Given the description of an element on the screen output the (x, y) to click on. 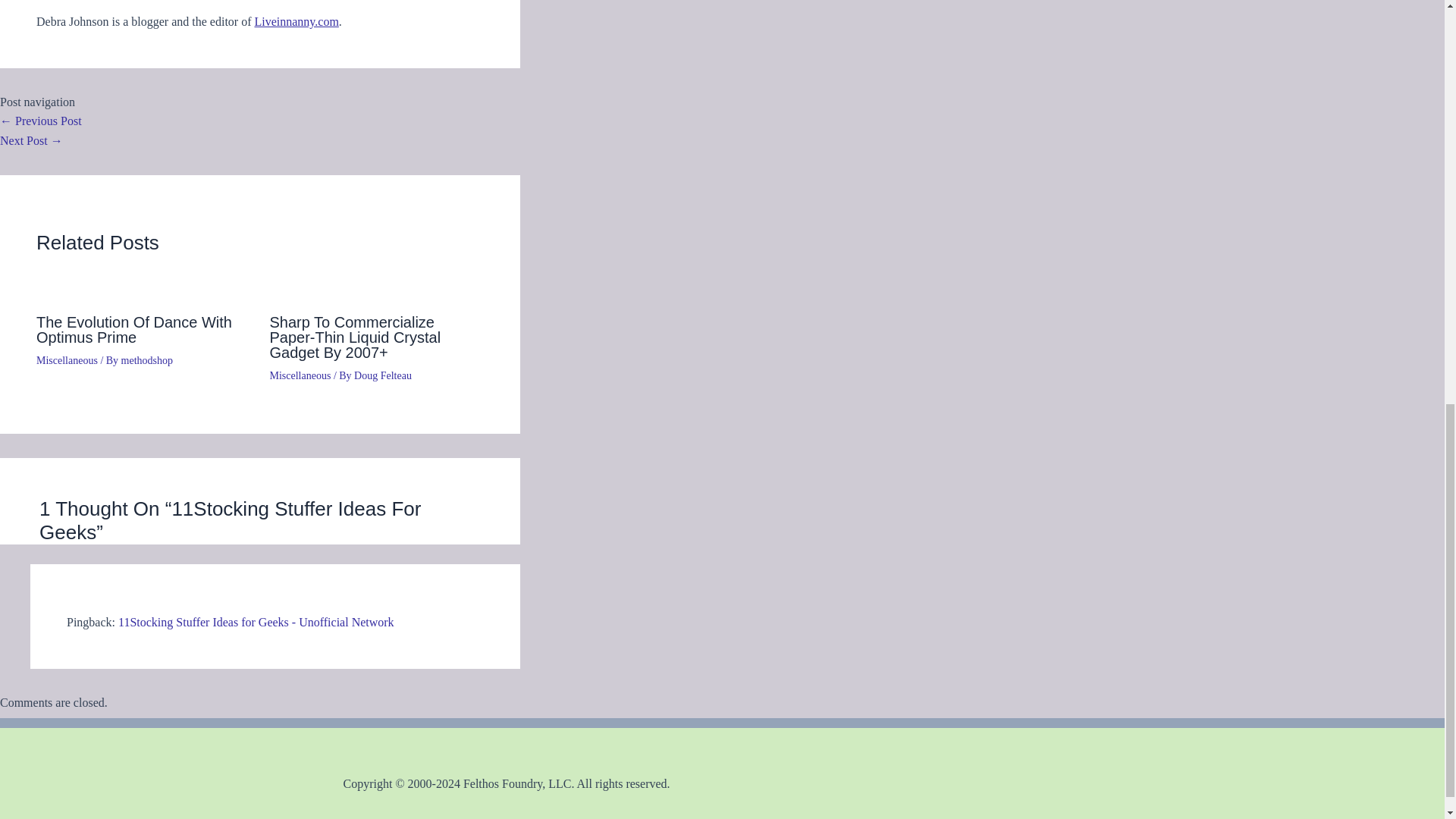
Liveinnanny.com (295, 21)
View all posts by methodshop (146, 360)
View all posts by Doug Felteau (382, 375)
methodshop (146, 360)
Miscellaneous (300, 375)
Miscellaneous (66, 360)
Doug Felteau (382, 375)
11Stocking Stuffer Ideas for Geeks - Unofficial Network (255, 621)
The Evolution Of Dance With Optimus Prime (133, 329)
